Given the description of an element on the screen output the (x, y) to click on. 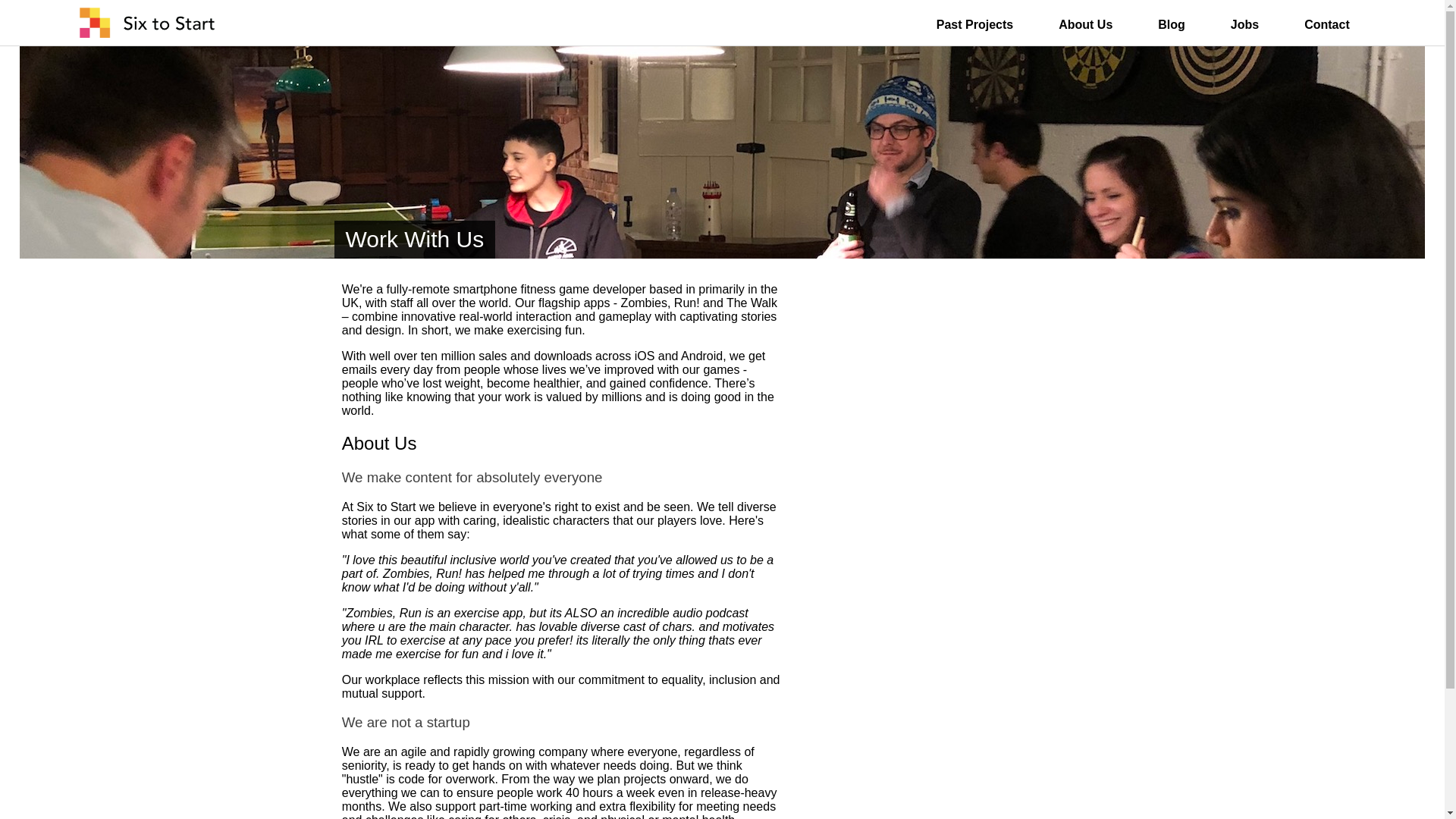
Past Projects (974, 24)
Blog (1171, 24)
Contact (1326, 24)
Jobs (1244, 24)
About Us (1085, 24)
